Given the description of an element on the screen output the (x, y) to click on. 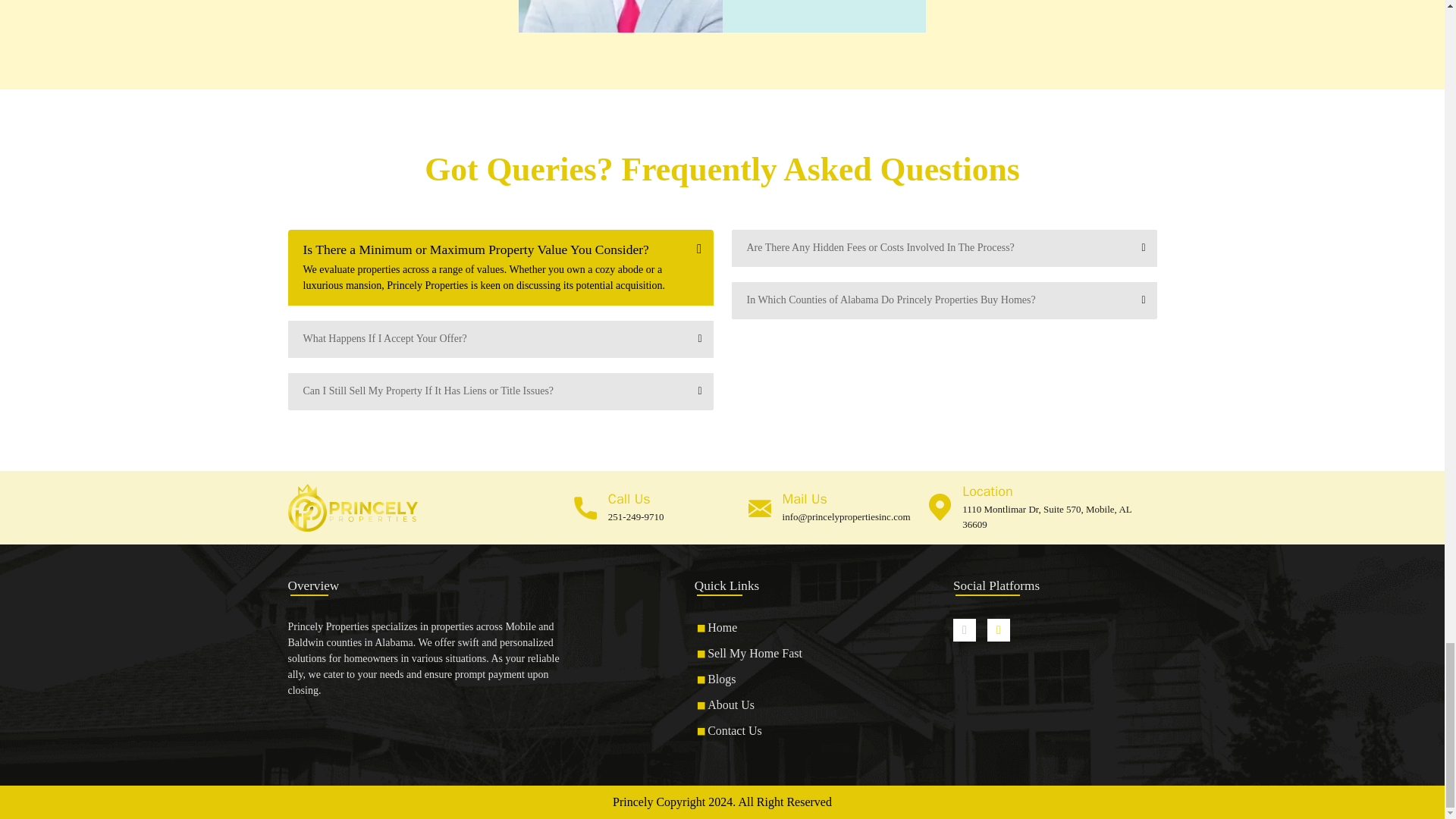
About Us (730, 704)
Blogs (721, 678)
Contact Us (734, 730)
Is There a Minimum or Maximum Property Value You Consider? (500, 245)
What Happens If I Accept Your Offer? (500, 339)
Sell My Home Fast (754, 653)
Home (721, 626)
Are There Any Hidden Fees or Costs Involved In The Process? (943, 248)
